Given the description of an element on the screen output the (x, y) to click on. 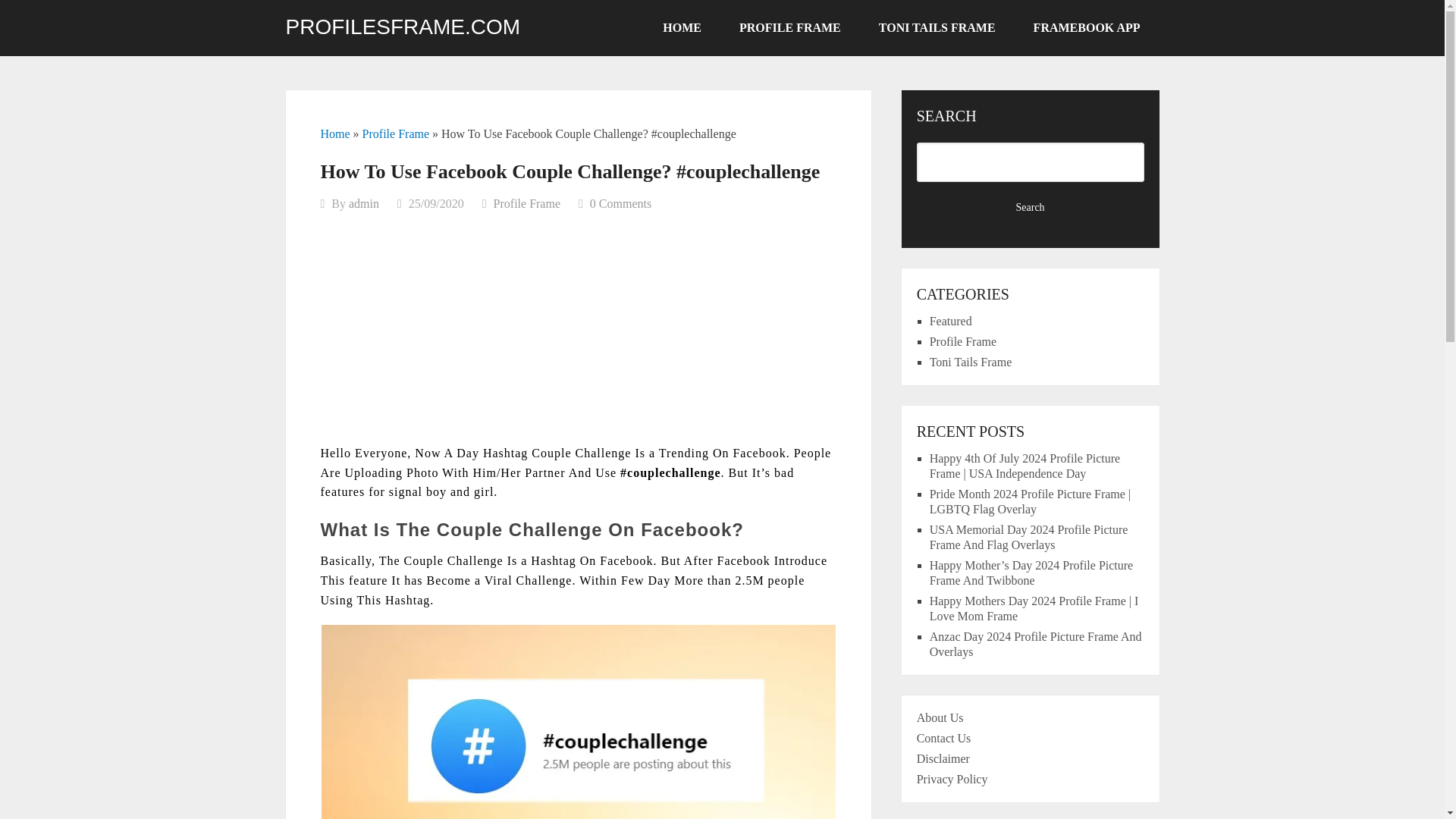
Search (1030, 207)
Profile Frame (962, 341)
admin (363, 203)
Profile Frame (395, 133)
Search (1030, 207)
Privacy Policy (952, 779)
Home (334, 133)
Posts by admin (363, 203)
Profile Frame (526, 203)
Contact Us (944, 738)
FRAMEBOOK APP (1086, 28)
HOME (681, 28)
Featured (951, 320)
PROFILESFRAME.COM (402, 26)
Anzac Day 2024 Profile Picture Frame And Overlays (1035, 643)
